Given the description of an element on the screen output the (x, y) to click on. 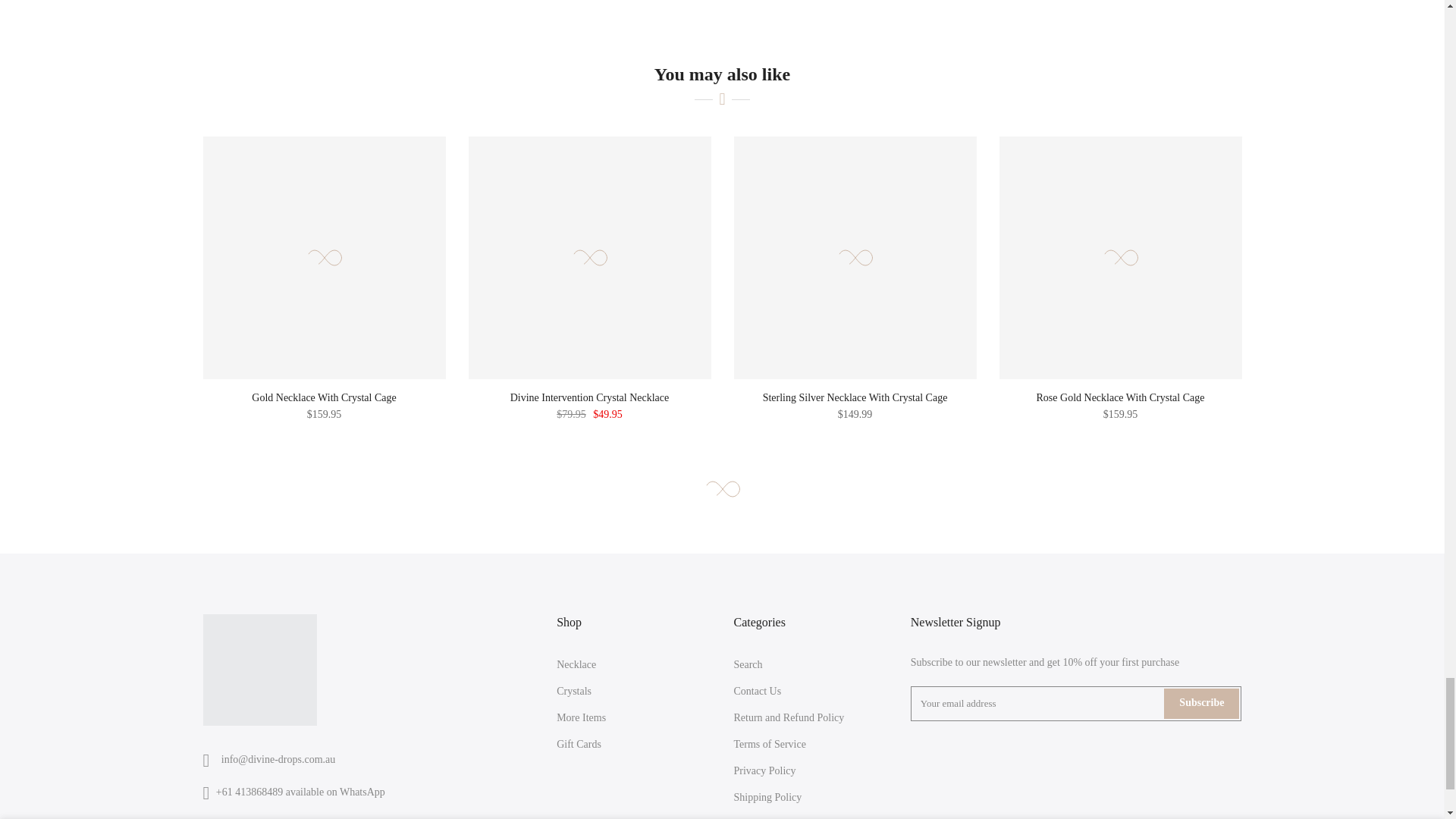
Rose Gold Necklace With Crystal Cage (1120, 397)
Gift Cards (578, 744)
Search (747, 664)
Divine Intervention Crystal Necklace (590, 397)
Gold Necklace With Crystal Cage (323, 397)
Sterling Silver Necklace With Crystal Cage (854, 397)
Necklace (575, 664)
Contact Us (756, 690)
More Items (580, 717)
Crystals (573, 690)
Return and Refund Policy (788, 717)
